Given the description of an element on the screen output the (x, y) to click on. 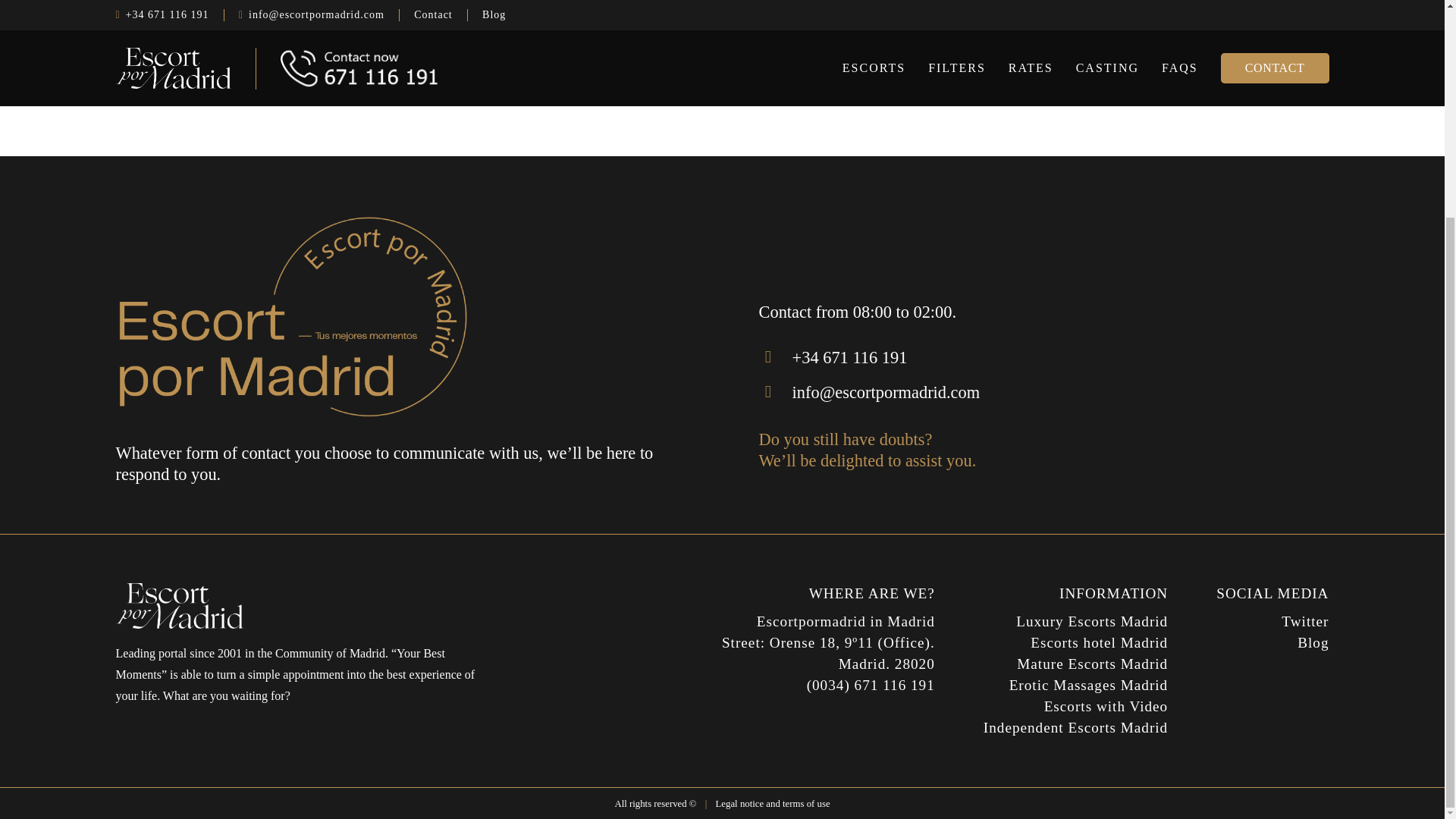
BACK TO HOME (719, 40)
Twitter (1304, 621)
madrid independent escorts (1075, 727)
Erotic Massages Madrid (1089, 684)
Escorts with Video (1106, 706)
Luxury Escorts Madrid (1091, 621)
escorts with video (1106, 706)
Escorts hotel Madrid (1098, 642)
Mature escorts madrid (1091, 663)
Legal notice and terms of use (772, 803)
Independent Escorts Madrid (1075, 727)
Escorts hotel Madrid (1098, 642)
Mature Escorts Madrid (1091, 663)
Erotic Massages (1089, 684)
Luxury Escort Madrid (1091, 621)
